Given the description of an element on the screen output the (x, y) to click on. 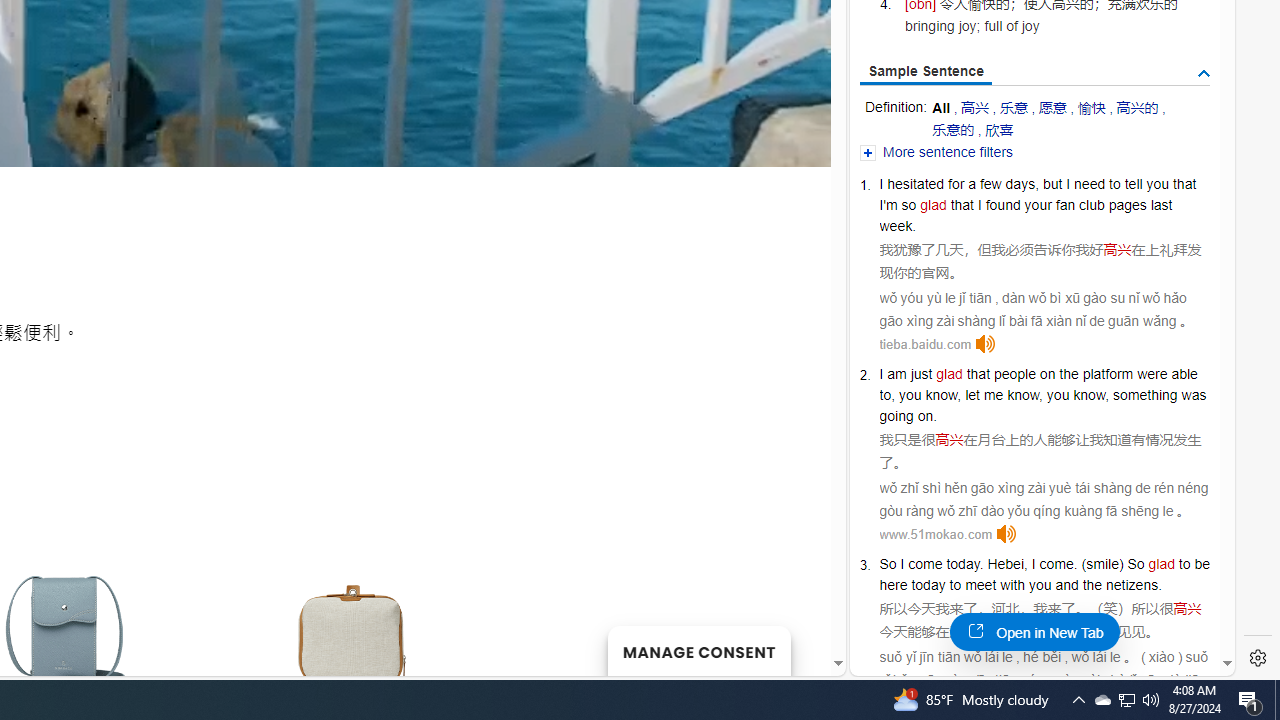
tieba.baidu.com (925, 344)
So (1135, 563)
but (1051, 183)
know (1088, 395)
Click to listen (1007, 534)
